Given the description of an element on the screen output the (x, y) to click on. 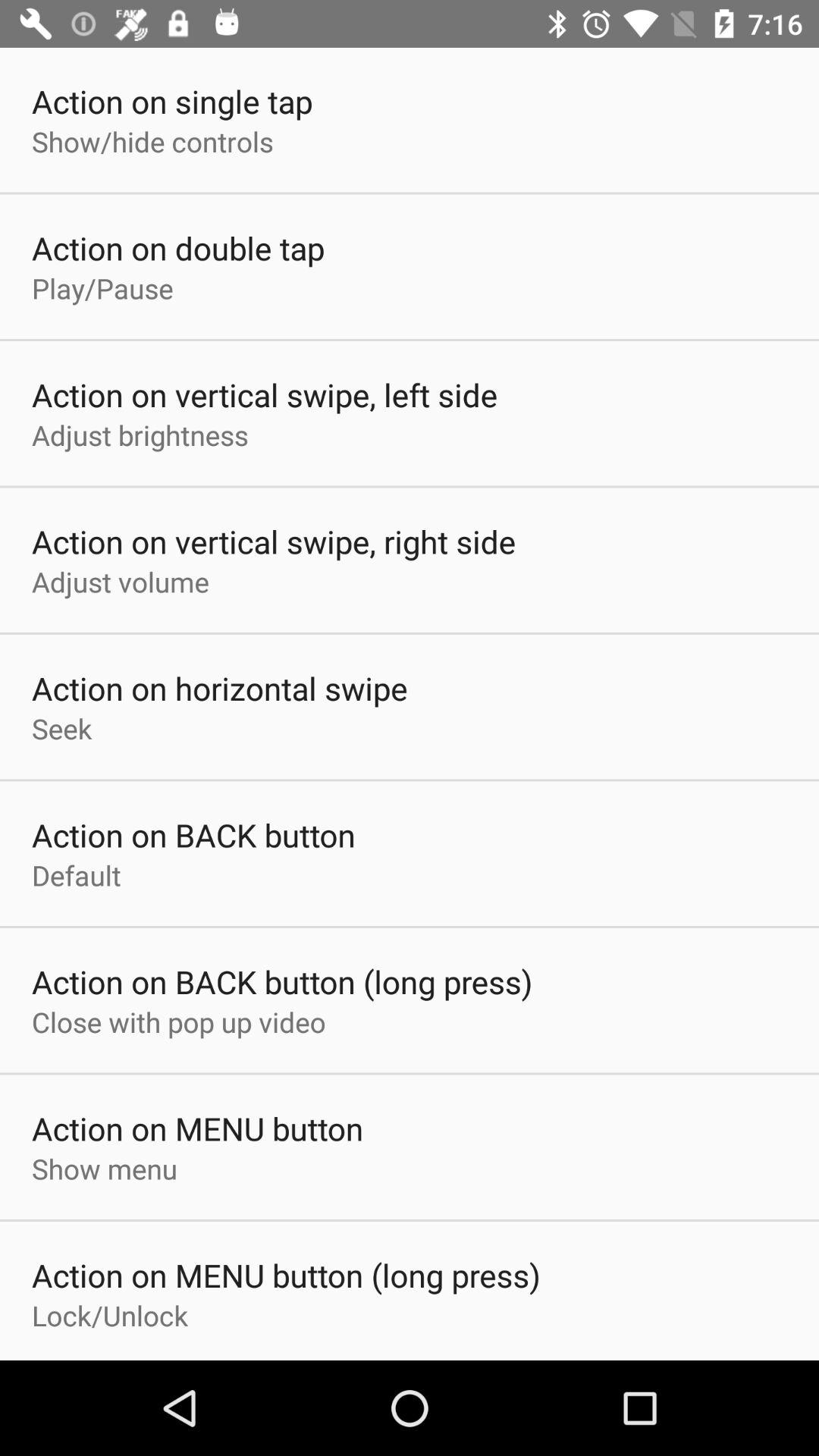
tap the close with pop app (178, 1021)
